Given the description of an element on the screen output the (x, y) to click on. 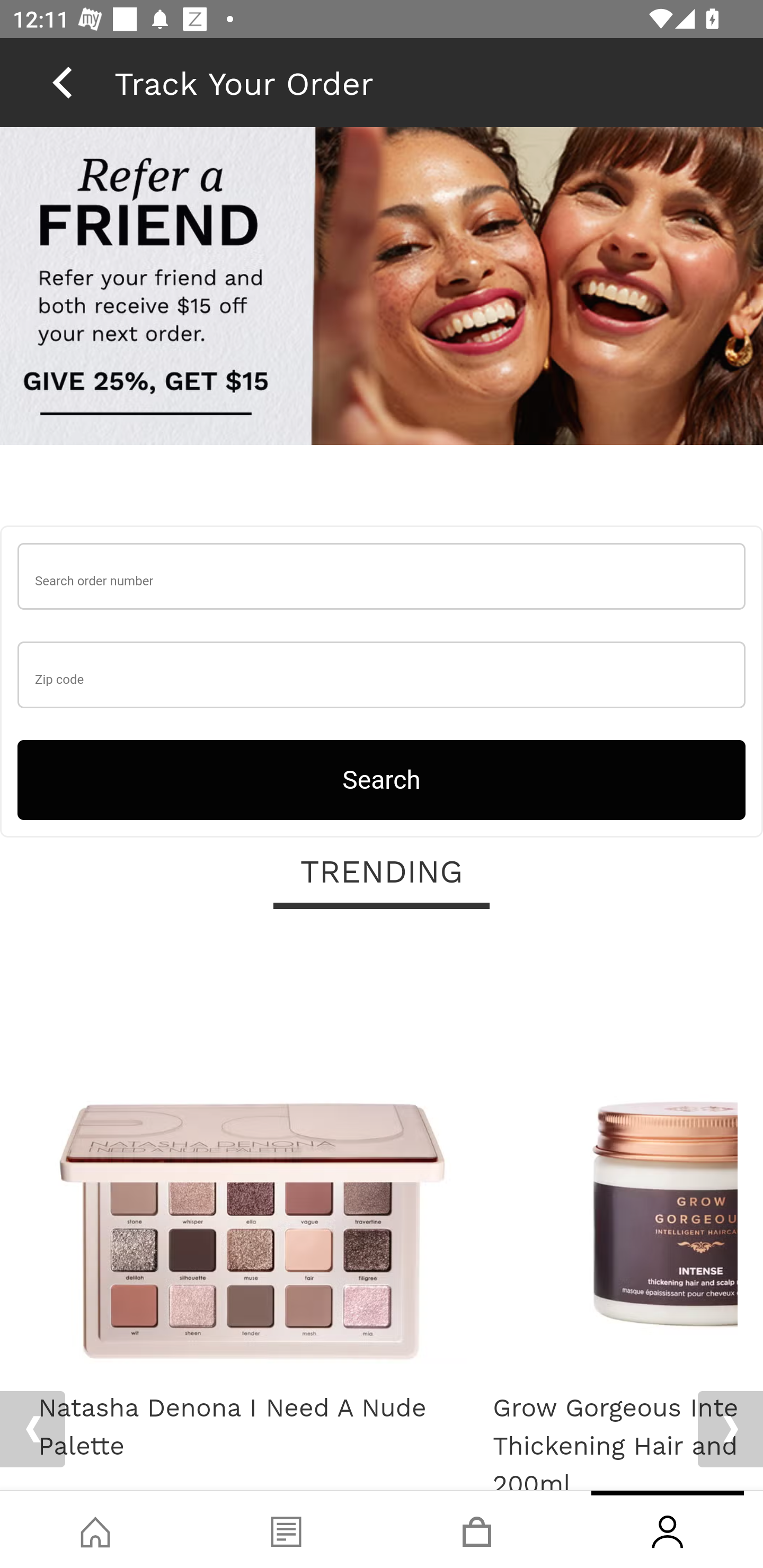
back (61, 82)
raf (381, 288)
Search (381, 779)
TRENDING (381, 874)
Natasha Denona I Need A Nude Palette (252, 1156)
Natasha Denona I Need A Nude Palette (252, 1428)
Previous (32, 1428)
Next (730, 1428)
Shop, tab, 1 of 4 (95, 1529)
Blog, tab, 2 of 4 (285, 1529)
Basket, tab, 3 of 4 (476, 1529)
Account, tab, 4 of 4 (667, 1529)
